Given the description of an element on the screen output the (x, y) to click on. 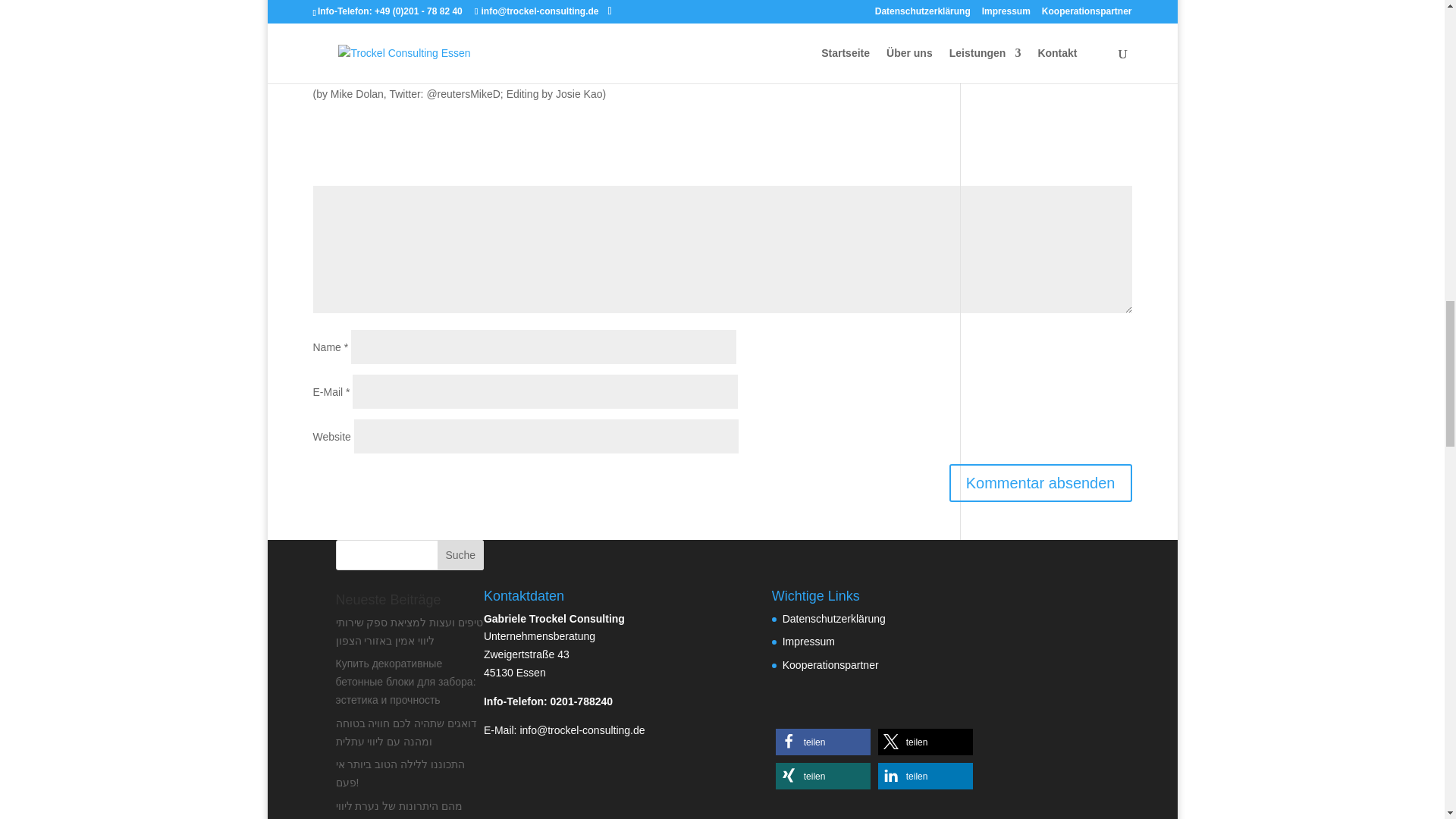
Bei Facebook teilen (823, 741)
Bei XING teilen (823, 775)
Kommentar absenden (1040, 483)
Bei LinkedIn teilen (924, 775)
Bei X teilen (924, 741)
Kommentar absenden (1040, 483)
Suche (460, 554)
Suche (460, 554)
